Given the description of an element on the screen output the (x, y) to click on. 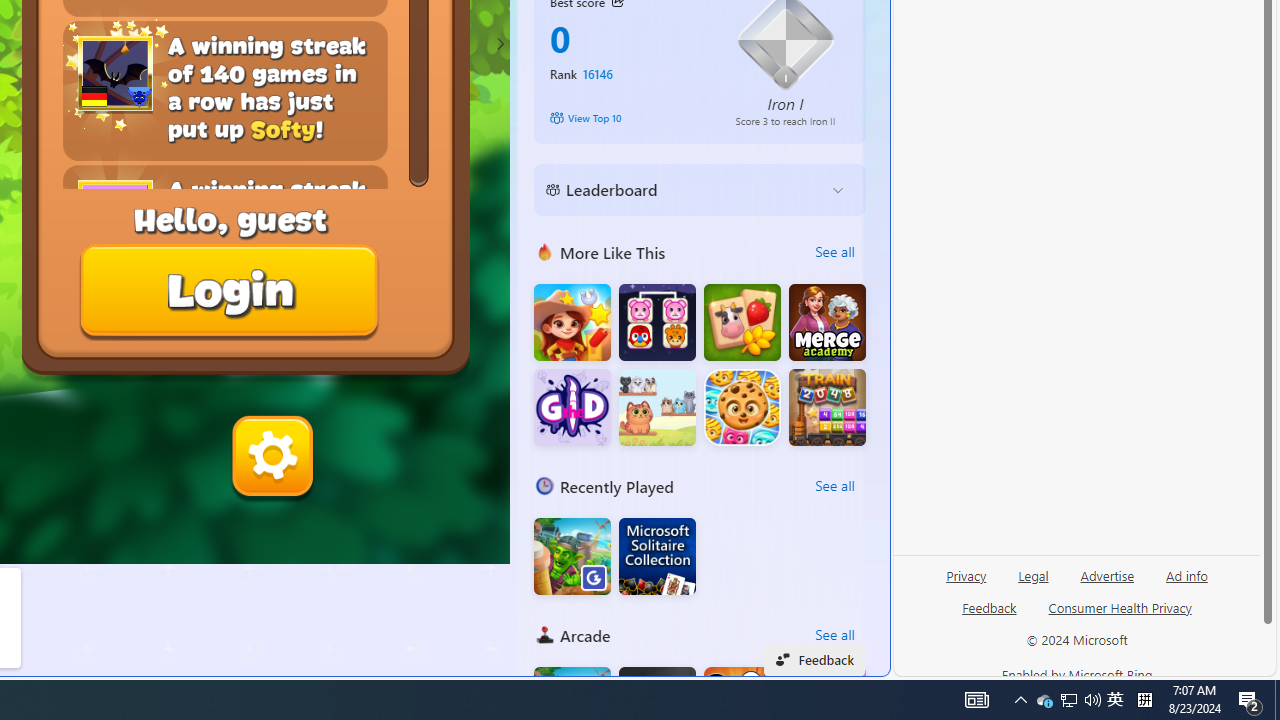
Recently played (544, 485)
Merge Academy (827, 322)
See all (834, 634)
Kingdom Fight 2.0 (571, 556)
Consumer Health Privacy (1119, 615)
